Given the description of an element on the screen output the (x, y) to click on. 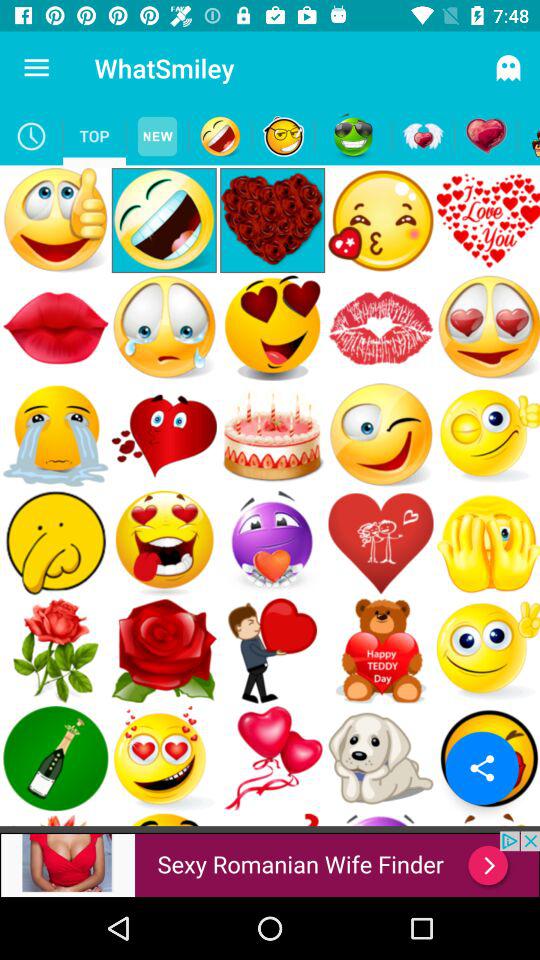
open settings (482, 768)
